Given the description of an element on the screen output the (x, y) to click on. 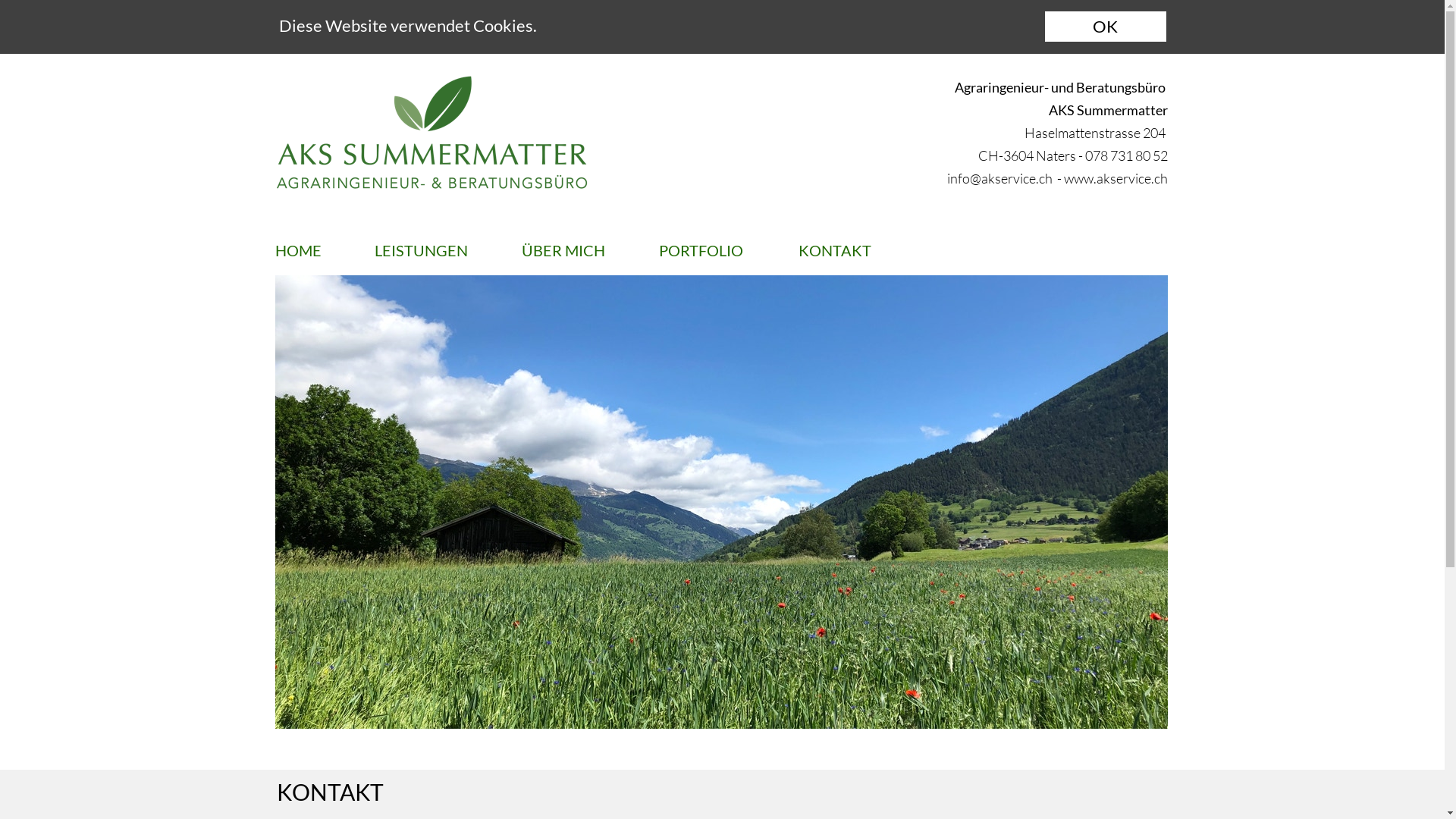
OK Element type: text (1105, 26)
